Given the description of an element on the screen output the (x, y) to click on. 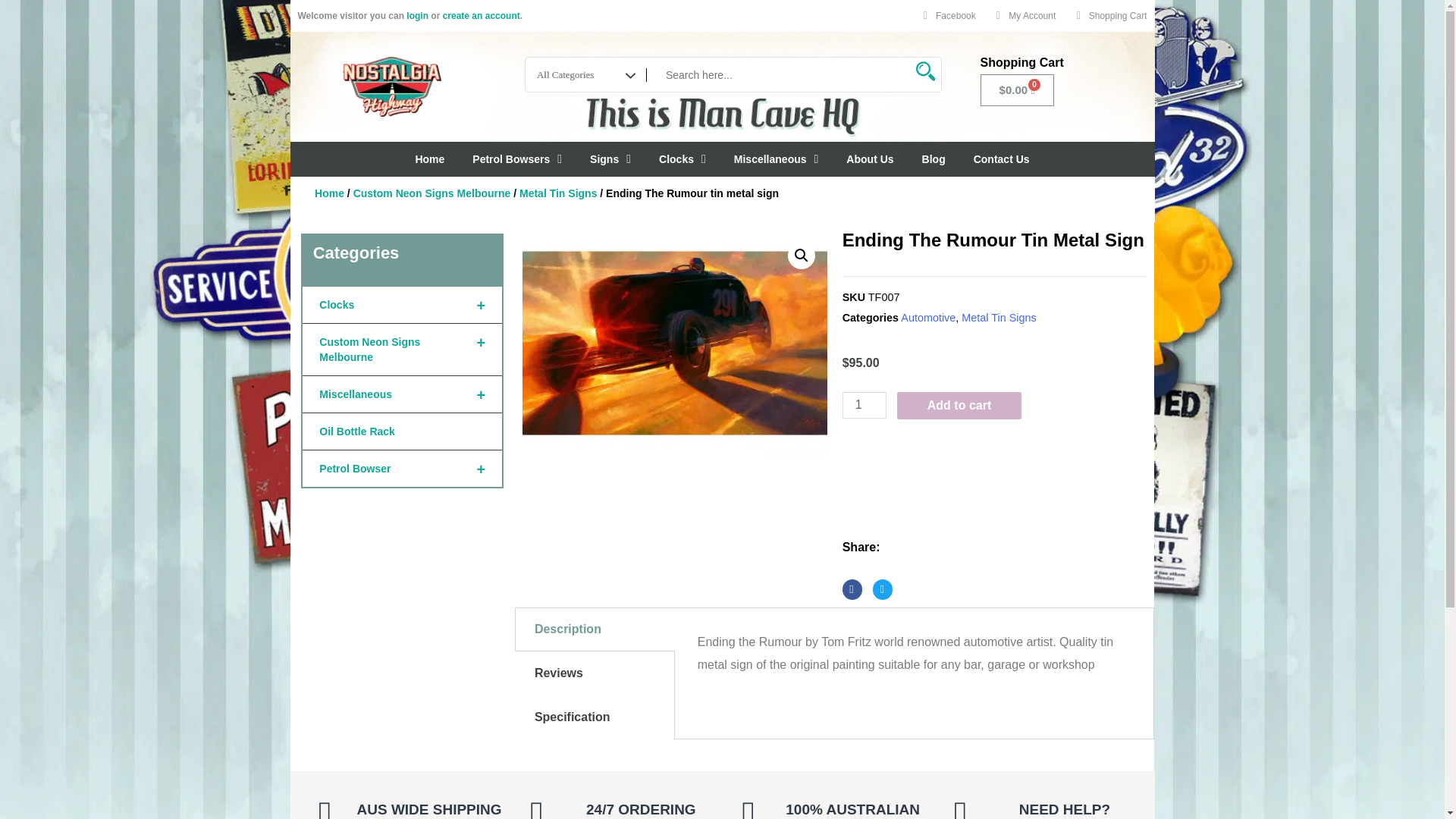
ending-the-rumour-tf007-650x483 (674, 343)
PayPal (995, 448)
Shopping Cart (1107, 15)
PayPal (995, 489)
login (417, 15)
My Account (1022, 15)
create an account (480, 15)
1 (864, 405)
Signs (609, 158)
Petrol Bowsers (516, 158)
